Given the description of an element on the screen output the (x, y) to click on. 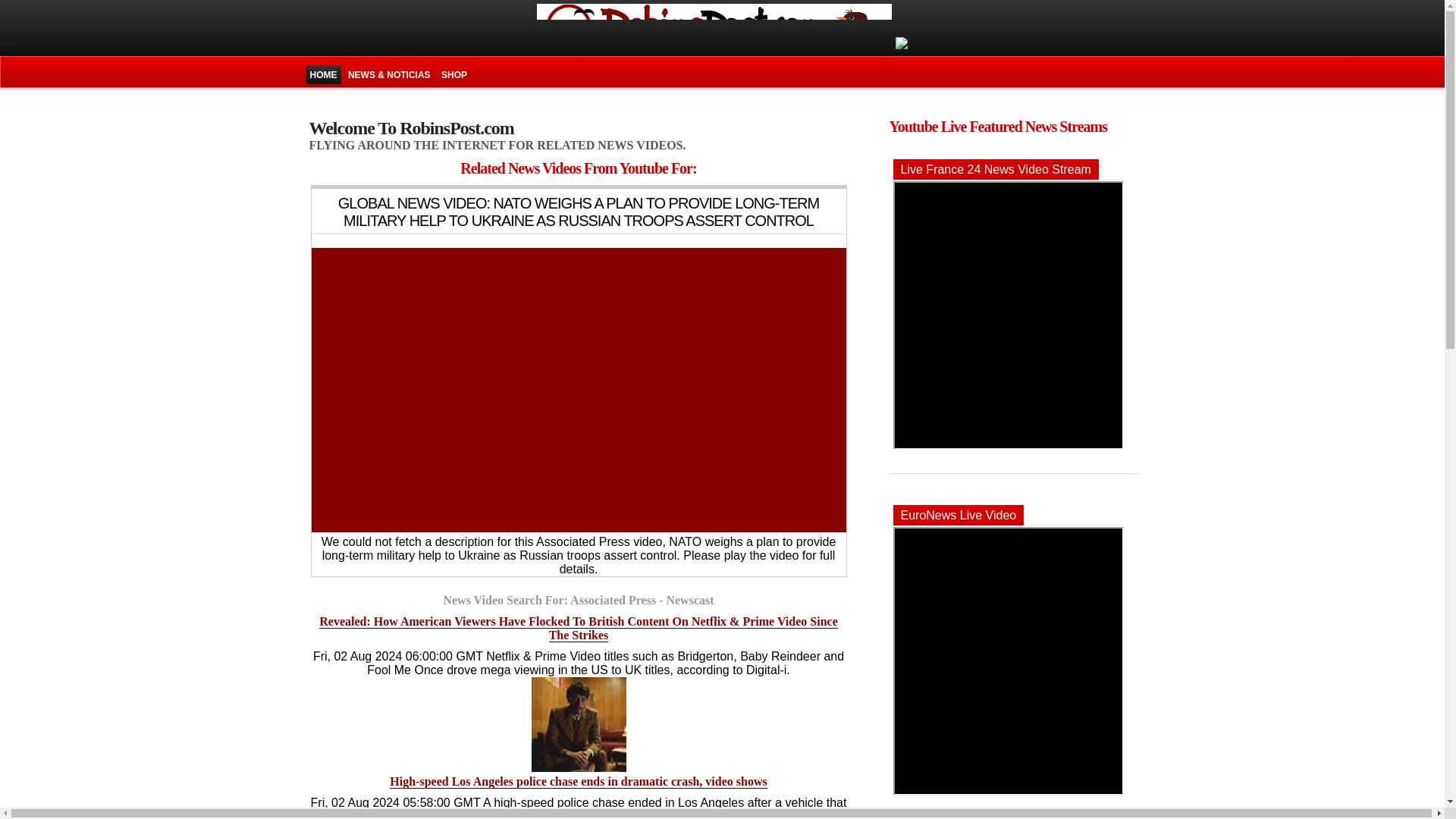
HOME (322, 75)
SHOP (454, 75)
